Given the description of an element on the screen output the (x, y) to click on. 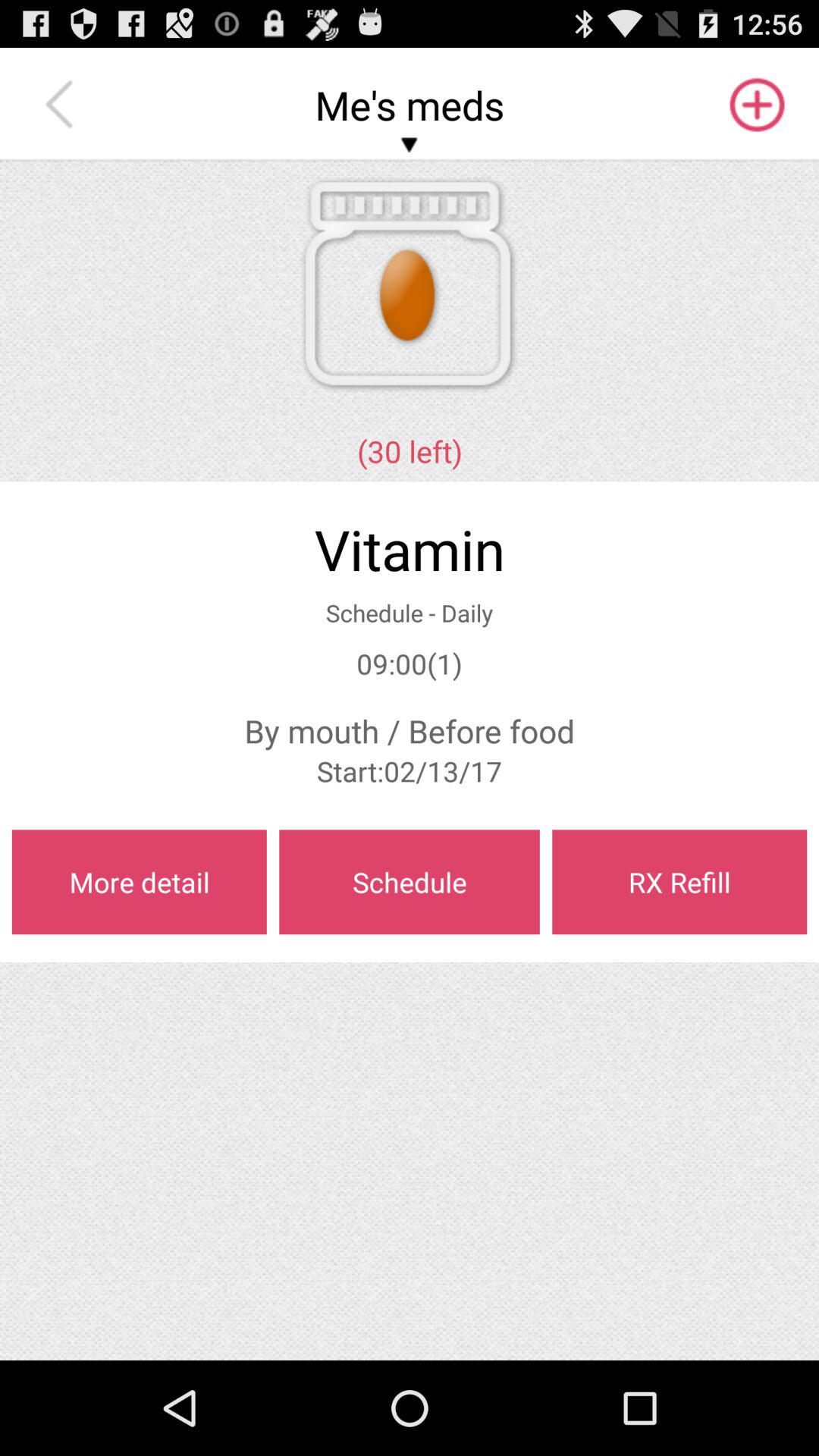
tap the item below start 02 13 app (138, 881)
